Given the description of an element on the screen output the (x, y) to click on. 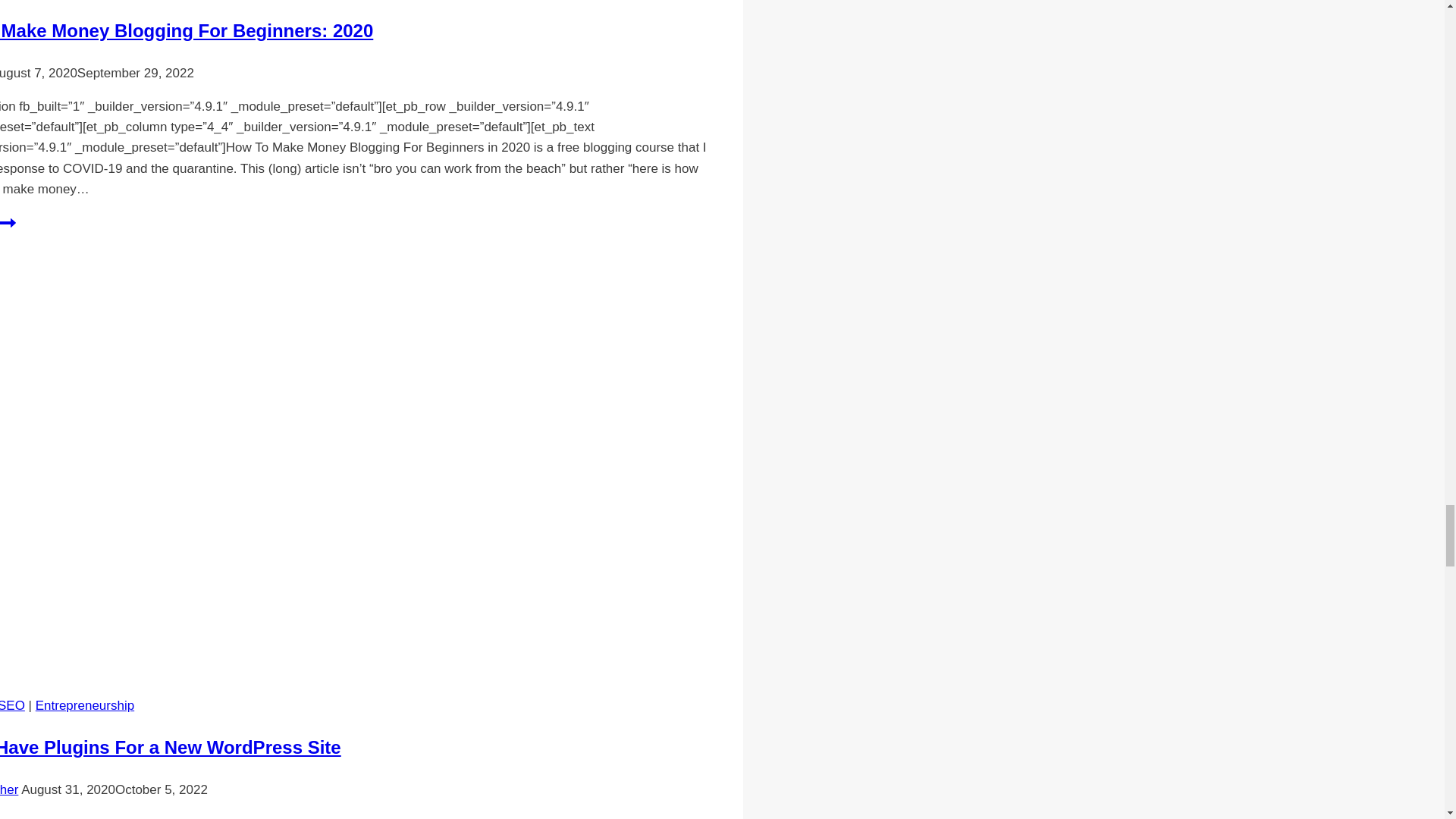
Continue (8, 222)
